Given the description of an element on the screen output the (x, y) to click on. 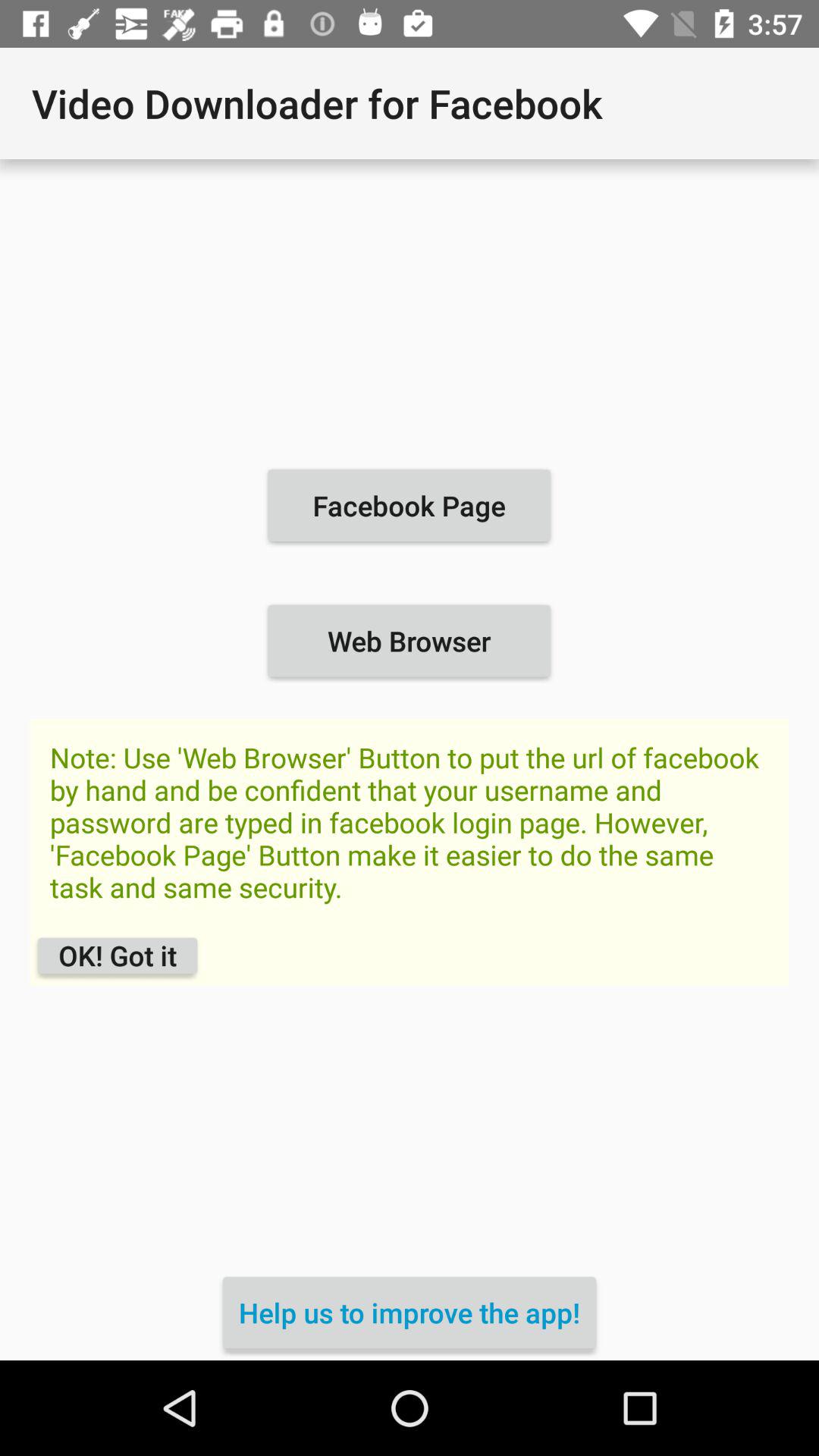
tap item below the note use web item (117, 955)
